Given the description of an element on the screen output the (x, y) to click on. 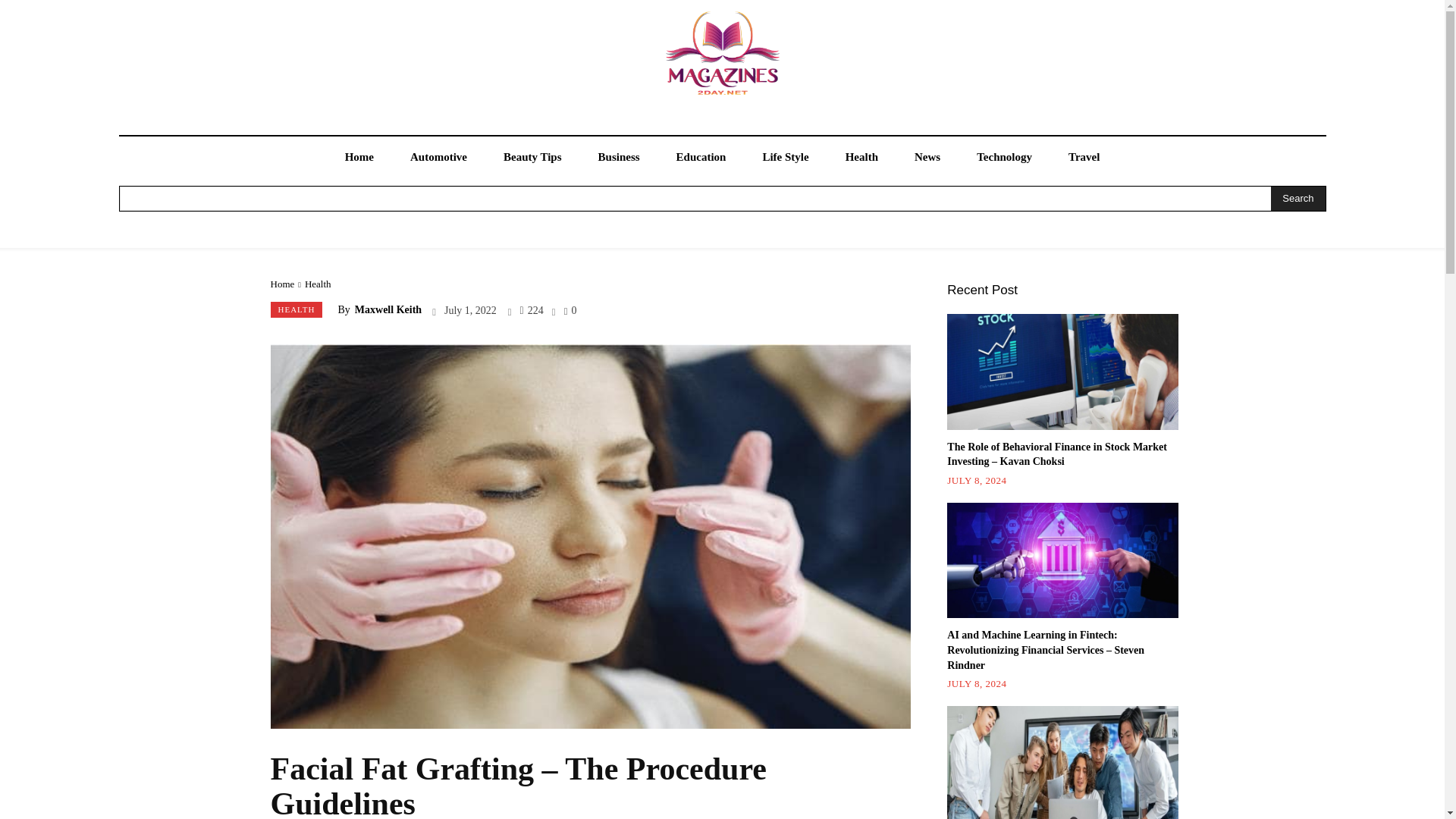
Health (317, 283)
View all posts in Health (317, 283)
Home (281, 283)
Business (618, 157)
Maxwell Keith (388, 309)
News (927, 157)
HEALTH (295, 309)
Travel (1083, 157)
0 (570, 309)
Health (861, 157)
Life Style (785, 157)
Search (1297, 198)
Home (358, 157)
Beauty Tips (531, 157)
Automotive (437, 157)
